Given the description of an element on the screen output the (x, y) to click on. 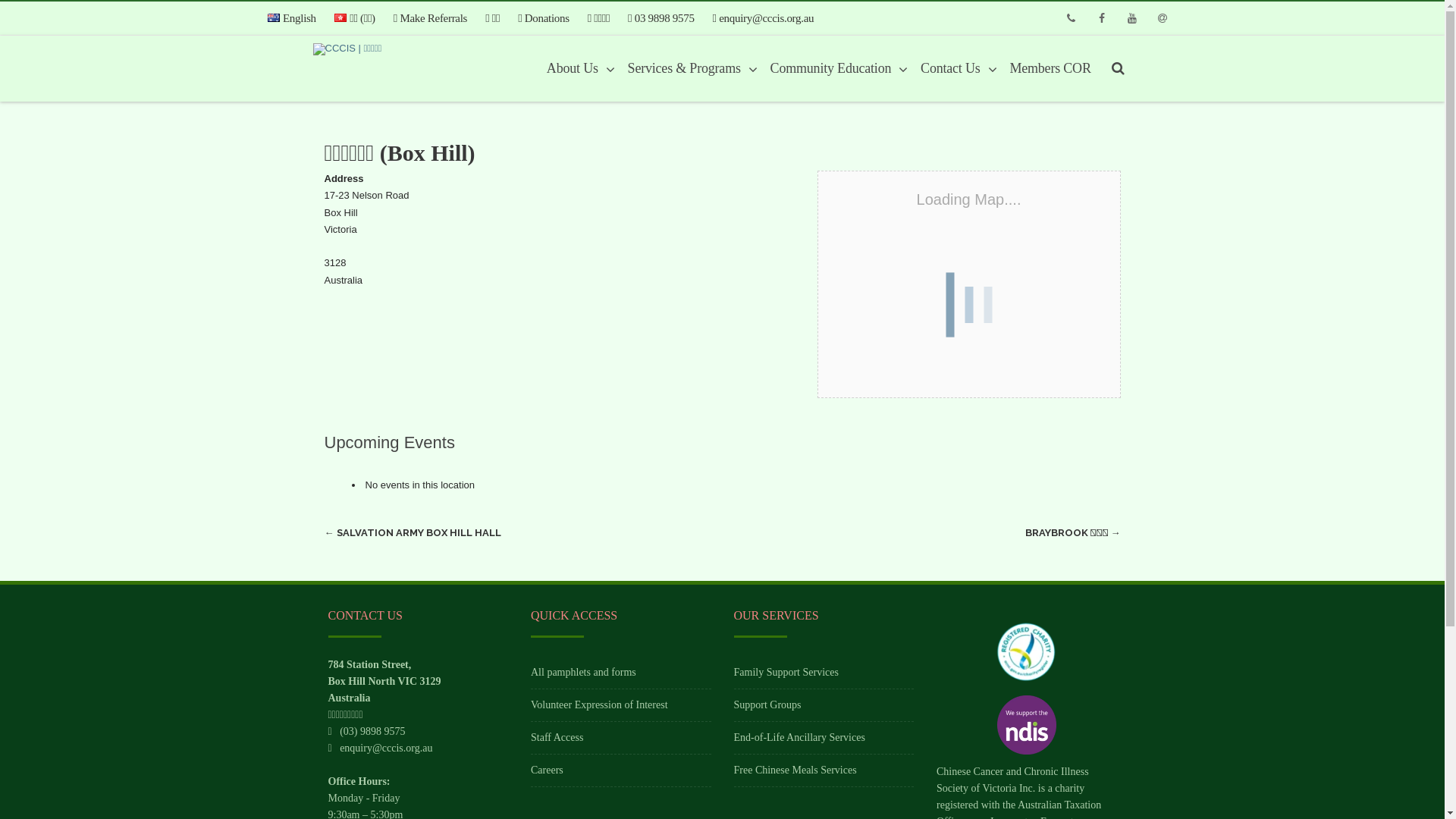
End-of-Life Ancillary Services Element type: text (799, 737)
Contact Us Element type: text (954, 67)
Services & Programs Element type: text (688, 67)
Phone Element type: hover (1070, 17)
Support Groups Element type: text (767, 704)
Facebook Element type: hover (1100, 17)
Family Support Services Element type: text (786, 671)
Careers Element type: text (546, 769)
Email Element type: hover (1161, 17)
Free Chinese Meals Services Element type: text (795, 769)
Staff Access Element type: text (556, 737)
English Element type: text (295, 17)
(03) 9898 9575 Element type: text (371, 731)
Members COR Element type: text (1049, 67)
Community Education Element type: text (835, 67)
About Us Element type: text (576, 67)
Youtube Element type: hover (1131, 17)
All pamphlets and forms Element type: text (583, 671)
enquiry@cccis.org.au Element type: text (385, 747)
Volunteer Expression of Interest Element type: text (599, 704)
